Given the description of an element on the screen output the (x, y) to click on. 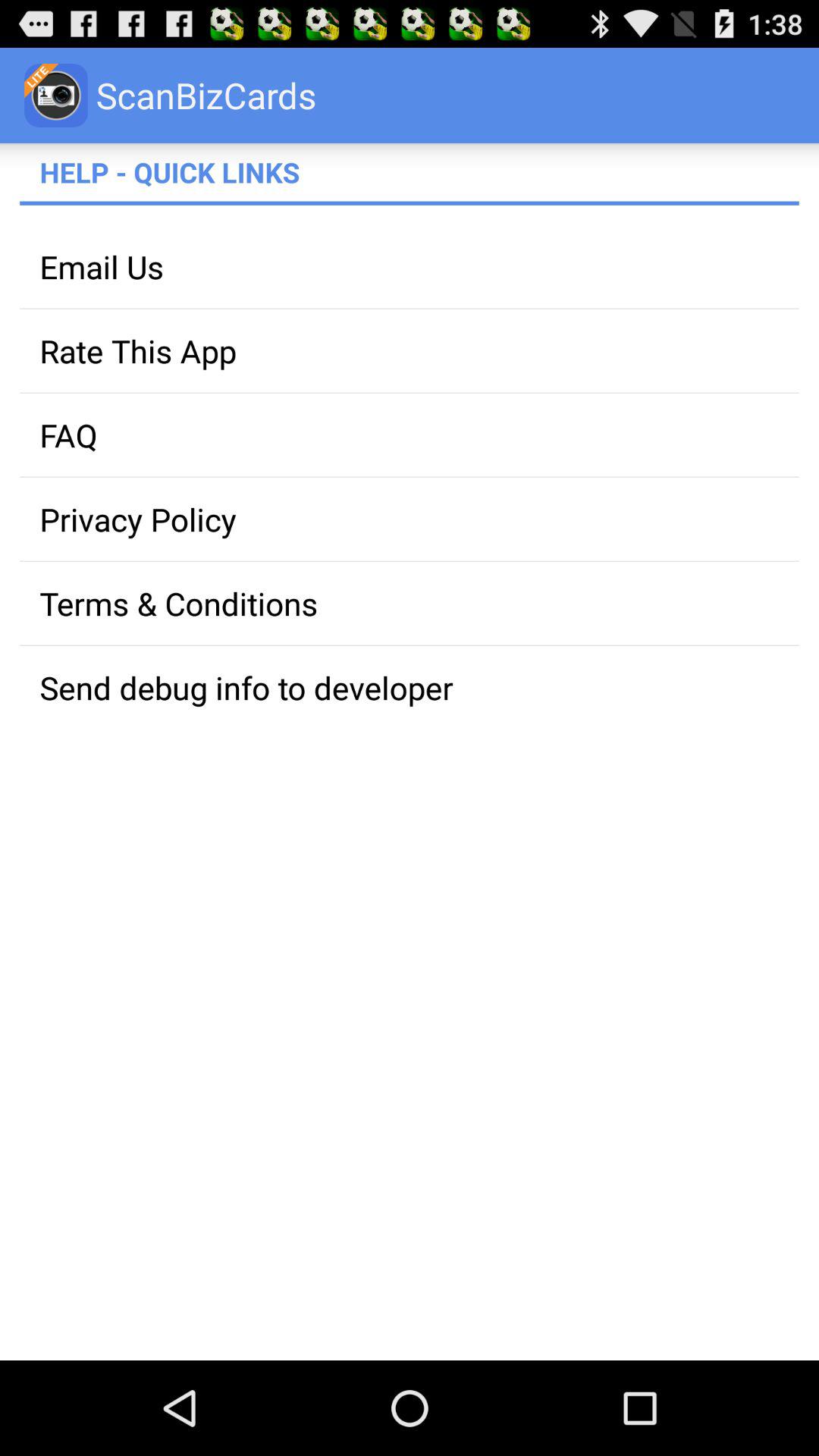
turn off app below privacy policy item (409, 603)
